Given the description of an element on the screen output the (x, y) to click on. 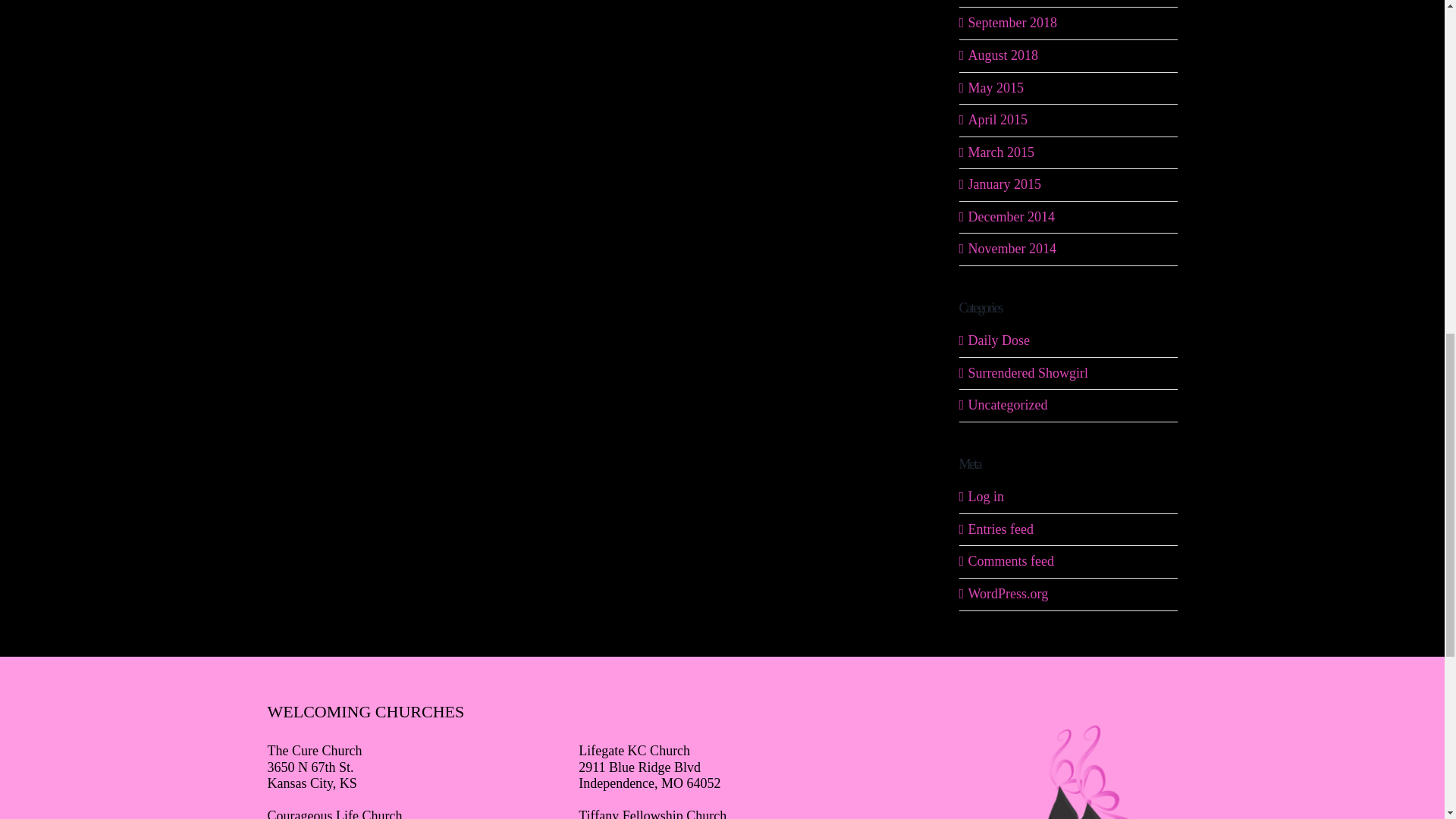
August 2018 (1003, 55)
March 2015 (1000, 151)
May 2015 (995, 87)
April 2015 (997, 119)
September 2018 (1012, 22)
